Given the description of an element on the screen output the (x, y) to click on. 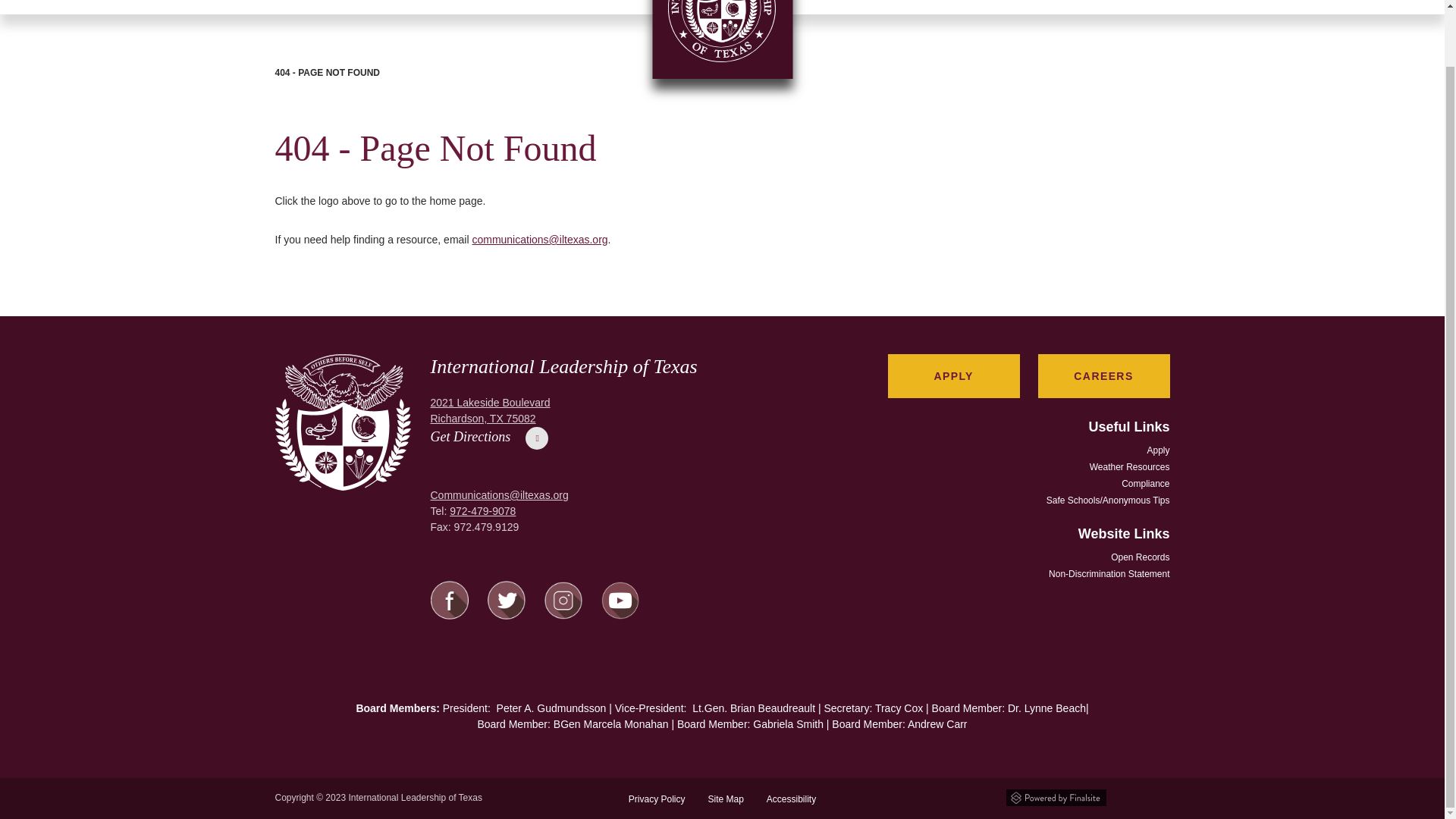
ILTexas Youtube (619, 615)
ILTexas Facebook (449, 616)
Powered by Finalsite opens in a new window (1055, 794)
ILTexas Twitter (505, 616)
ILTexas Instagram (563, 615)
